Given the description of an element on the screen output the (x, y) to click on. 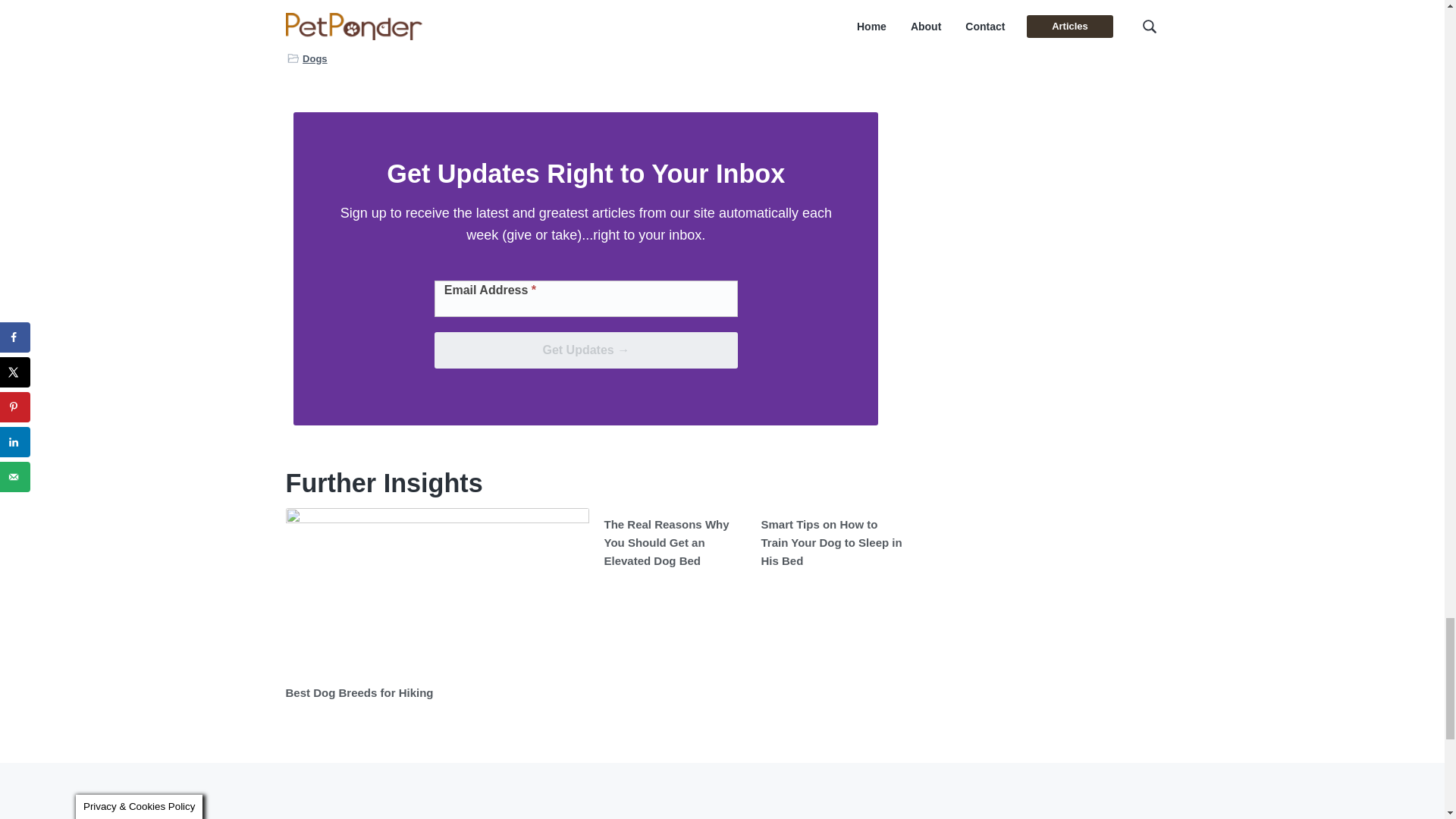
The Real Reasons Why You Should Get an Elevated Dog Bed (666, 542)
Smart Tips on How to Train Your Dog to Sleep in His Bed (831, 542)
Dogs (314, 58)
Permanent Link to Best Dog Breeds for Hiking (436, 591)
Best Dog Breeds for Hiking (358, 692)
Permanent Link to Best Dog Breeds for Hiking (358, 692)
